Given the description of an element on the screen output the (x, y) to click on. 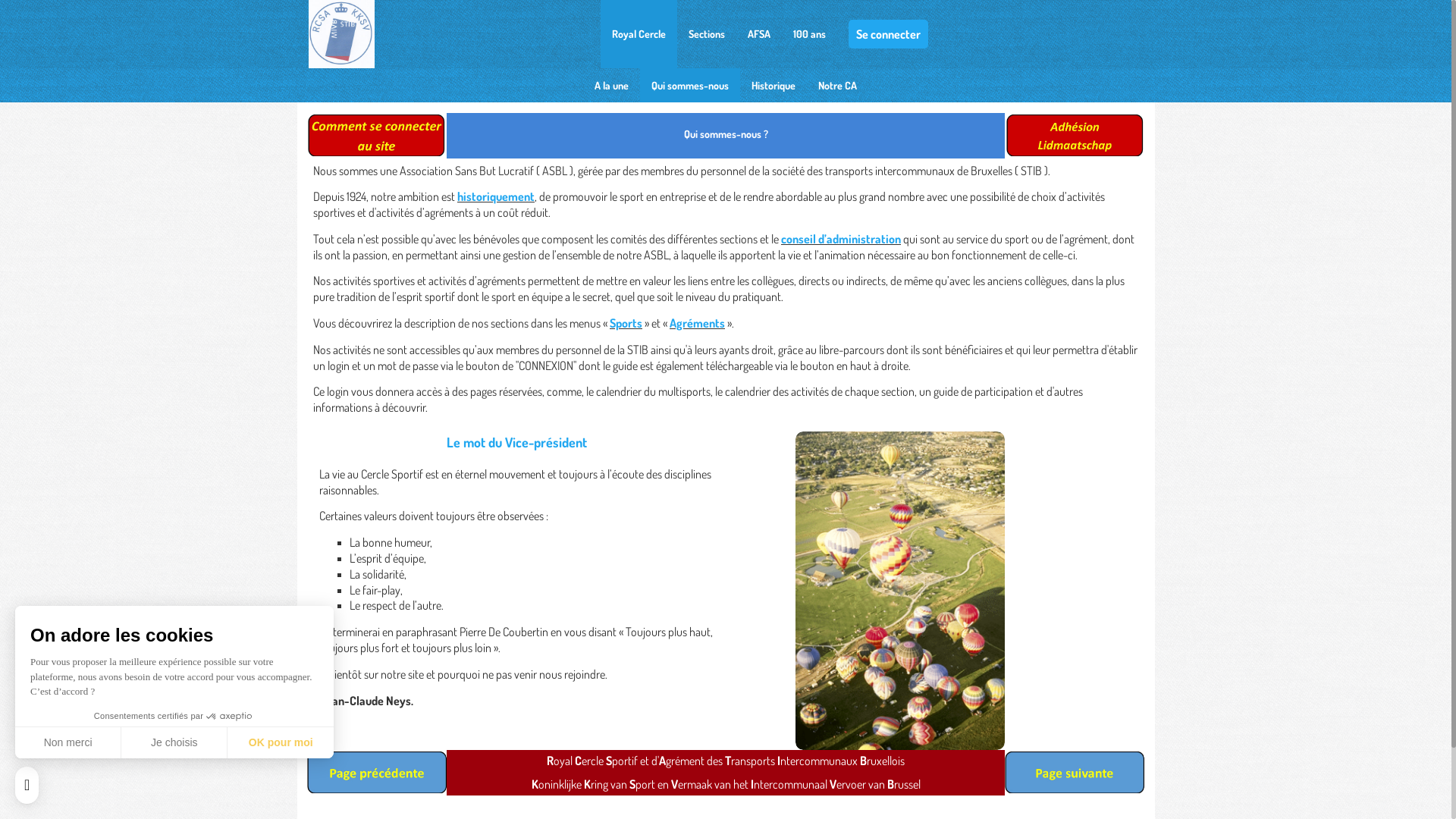
AFSA Element type: text (758, 34)
Sections Element type: text (706, 34)
historiquement Element type: text (495, 195)
Je choisis Element type: text (174, 742)
Non merci Element type: text (68, 742)
A la une Element type: text (611, 84)
OK pour moi Element type: text (280, 742)
Qui sommes-nous Element type: text (690, 84)
Se connecter Element type: text (888, 34)
Sports Element type: text (625, 322)
Royal Cercle Element type: text (638, 34)
Notre CA Element type: text (837, 84)
100 ans Element type: text (809, 34)
Historique Element type: text (773, 84)
